Given the description of an element on the screen output the (x, y) to click on. 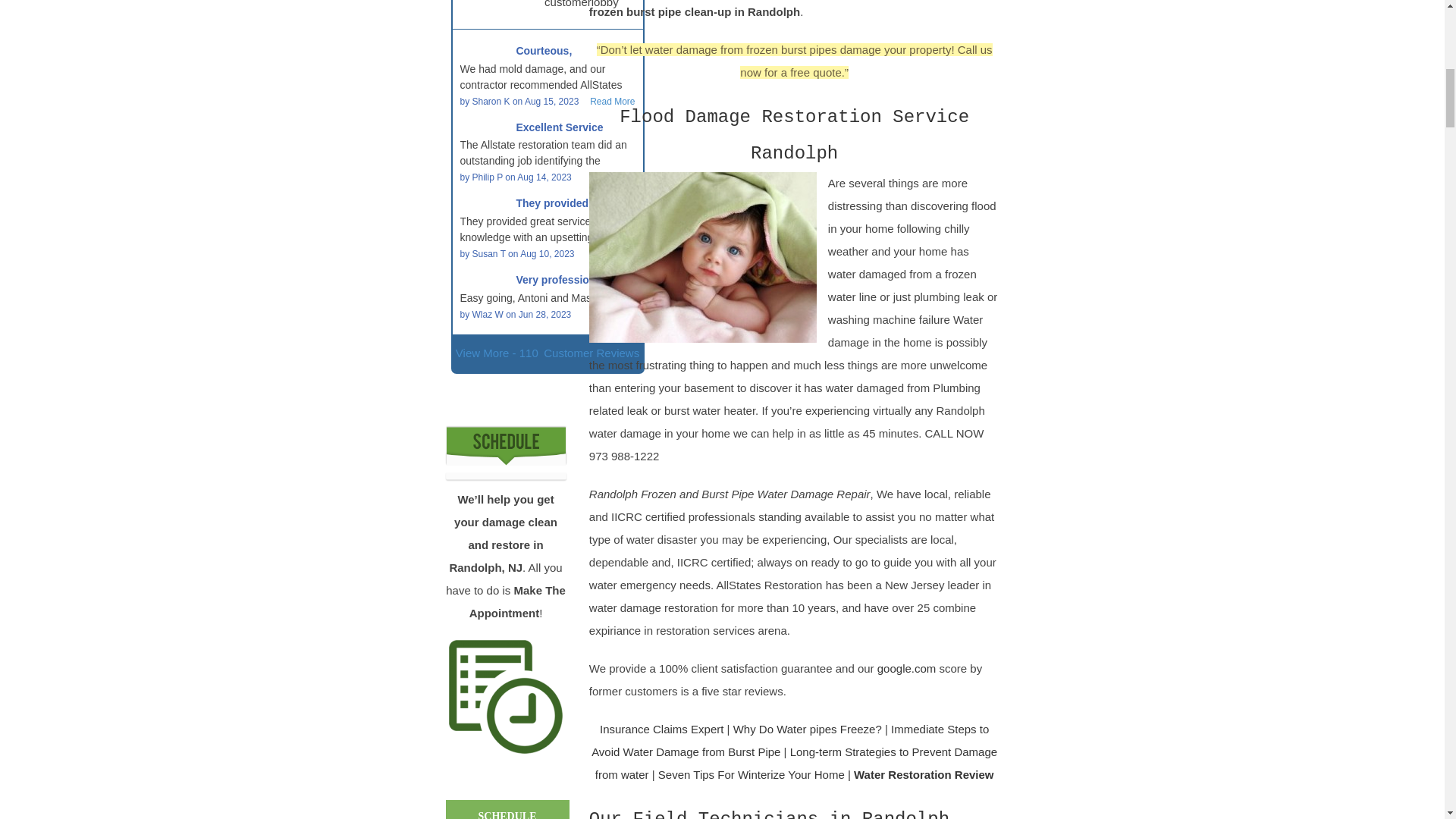
schedule-bottom-box (505, 476)
schedule-top-box (505, 445)
schedule-grey (505, 696)
